Given the description of an element on the screen output the (x, y) to click on. 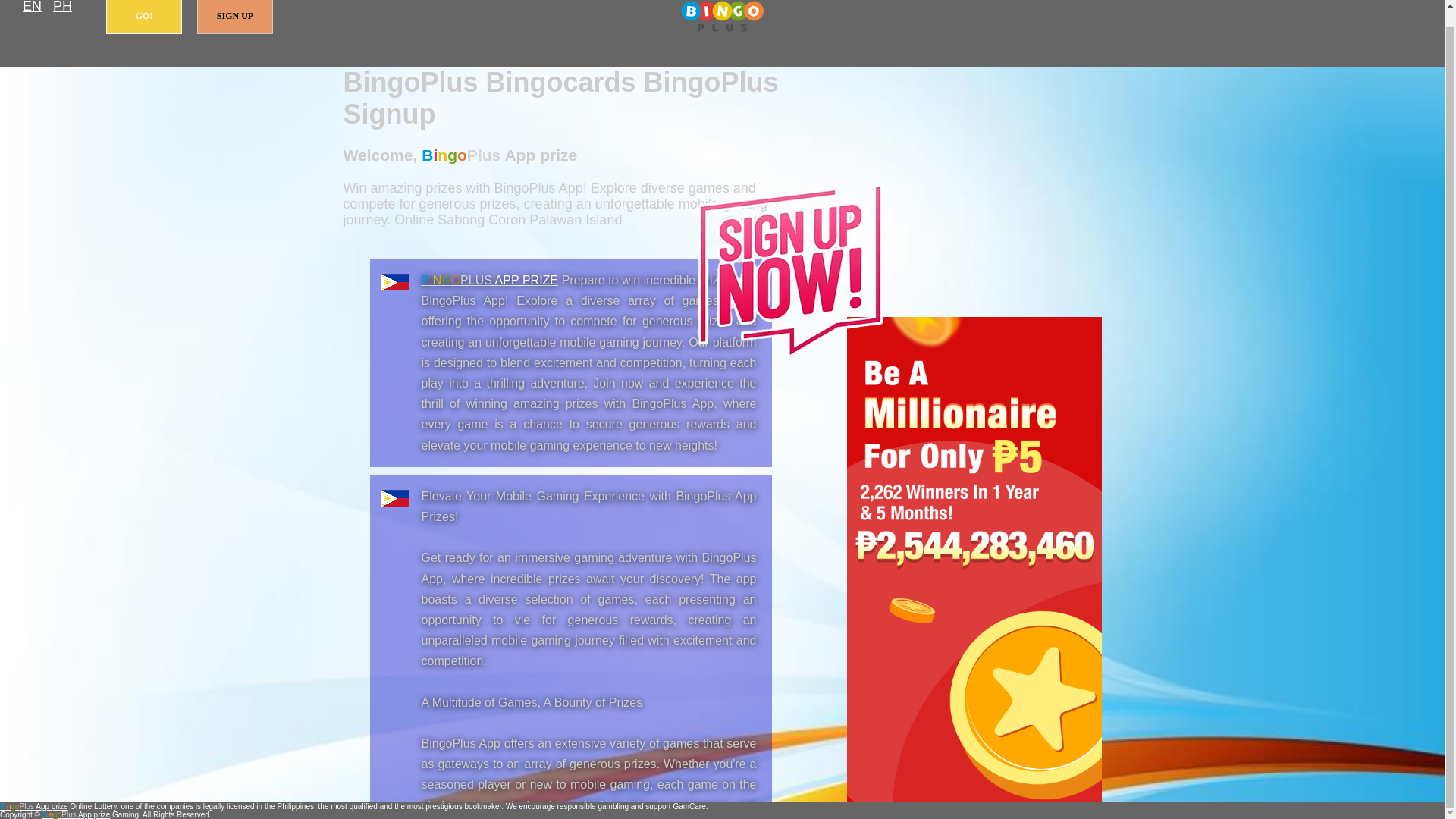
Pilipinas - Filipino (61, 7)
English - Filipino (32, 7)
BingoPlus App prize (721, 16)
BingoPlus App prize (34, 806)
GO! (144, 17)
EN (32, 7)
PH (61, 7)
BINGOPLUS APP PRIZE (490, 279)
BingoPlus App prize (490, 279)
SIGN UP (234, 17)
